Given the description of an element on the screen output the (x, y) to click on. 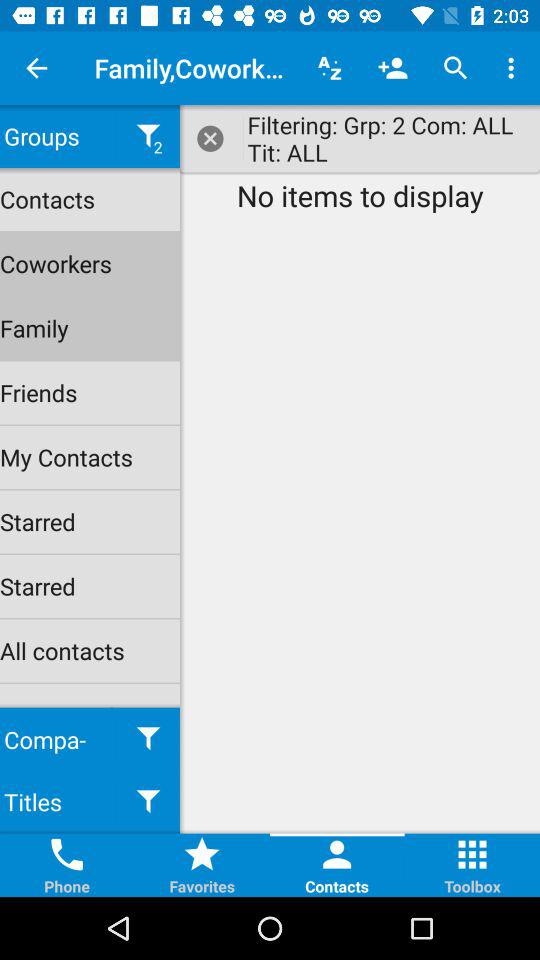
close the area (211, 138)
